Given the description of an element on the screen output the (x, y) to click on. 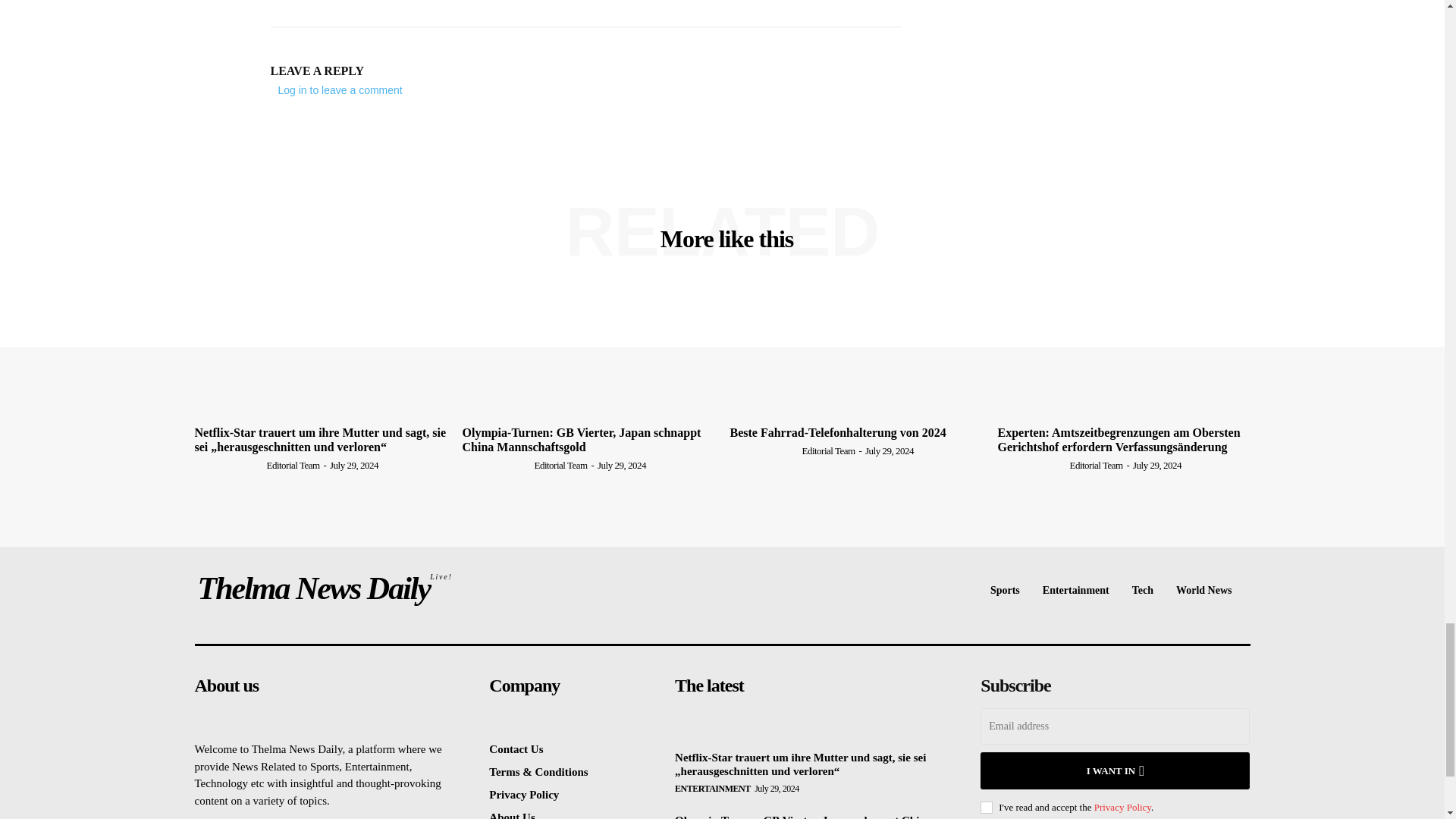
Editorial Team (305, 5)
